Given the description of an element on the screen output the (x, y) to click on. 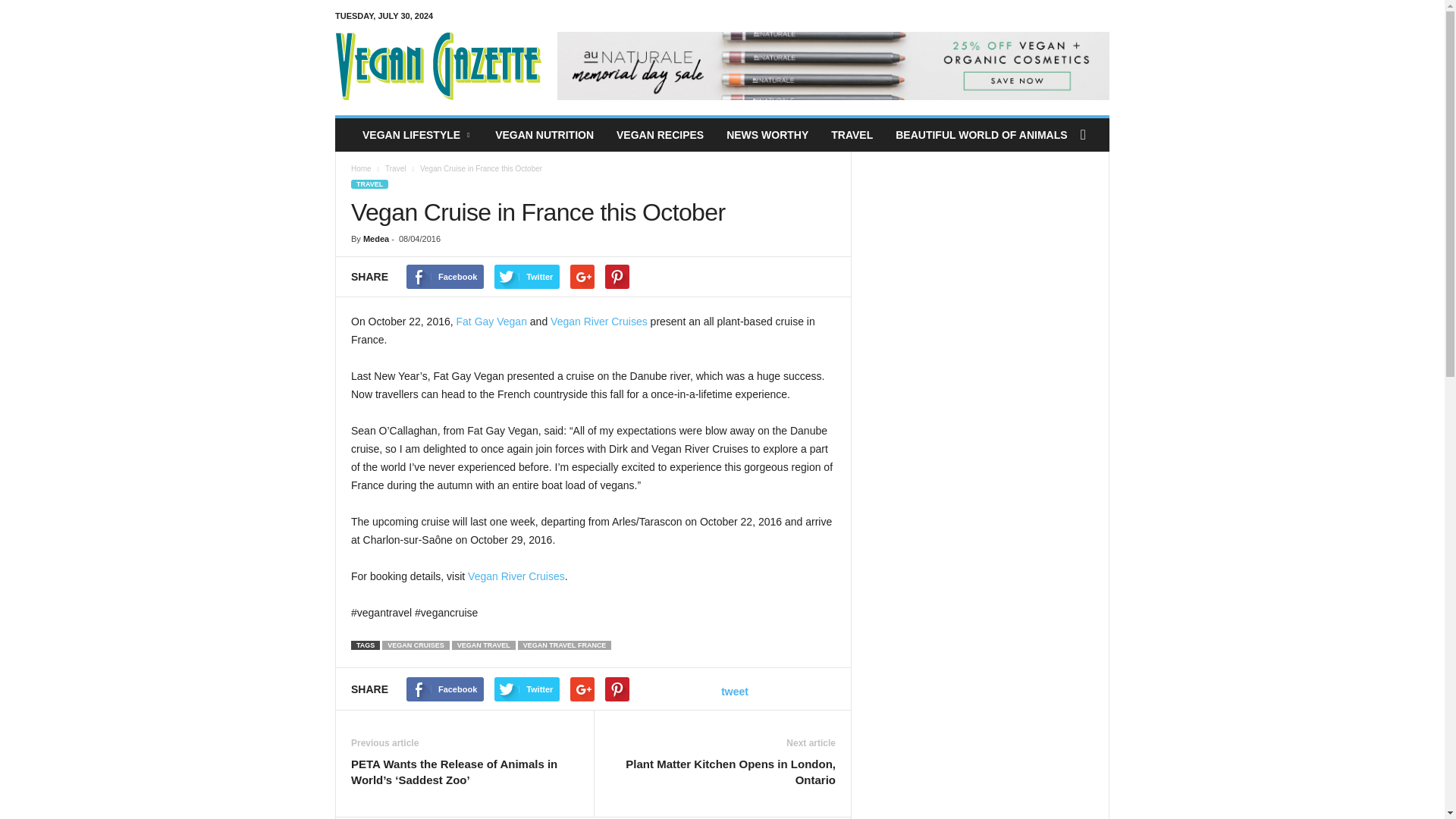
VEGAN NUTRITION (544, 134)
View all posts in Travel (395, 168)
VEGAN LIFESTYLE (416, 134)
Medea (375, 238)
Vegan Gazette (437, 65)
Home (360, 168)
Twitter (527, 276)
TRAVEL (851, 134)
TRAVEL (369, 184)
Facebook (444, 276)
NEWS WORTHY (766, 134)
Travel (395, 168)
BEAUTIFUL WORLD OF ANIMALS (980, 134)
VEGAN RECIPES (659, 134)
